Given the description of an element on the screen output the (x, y) to click on. 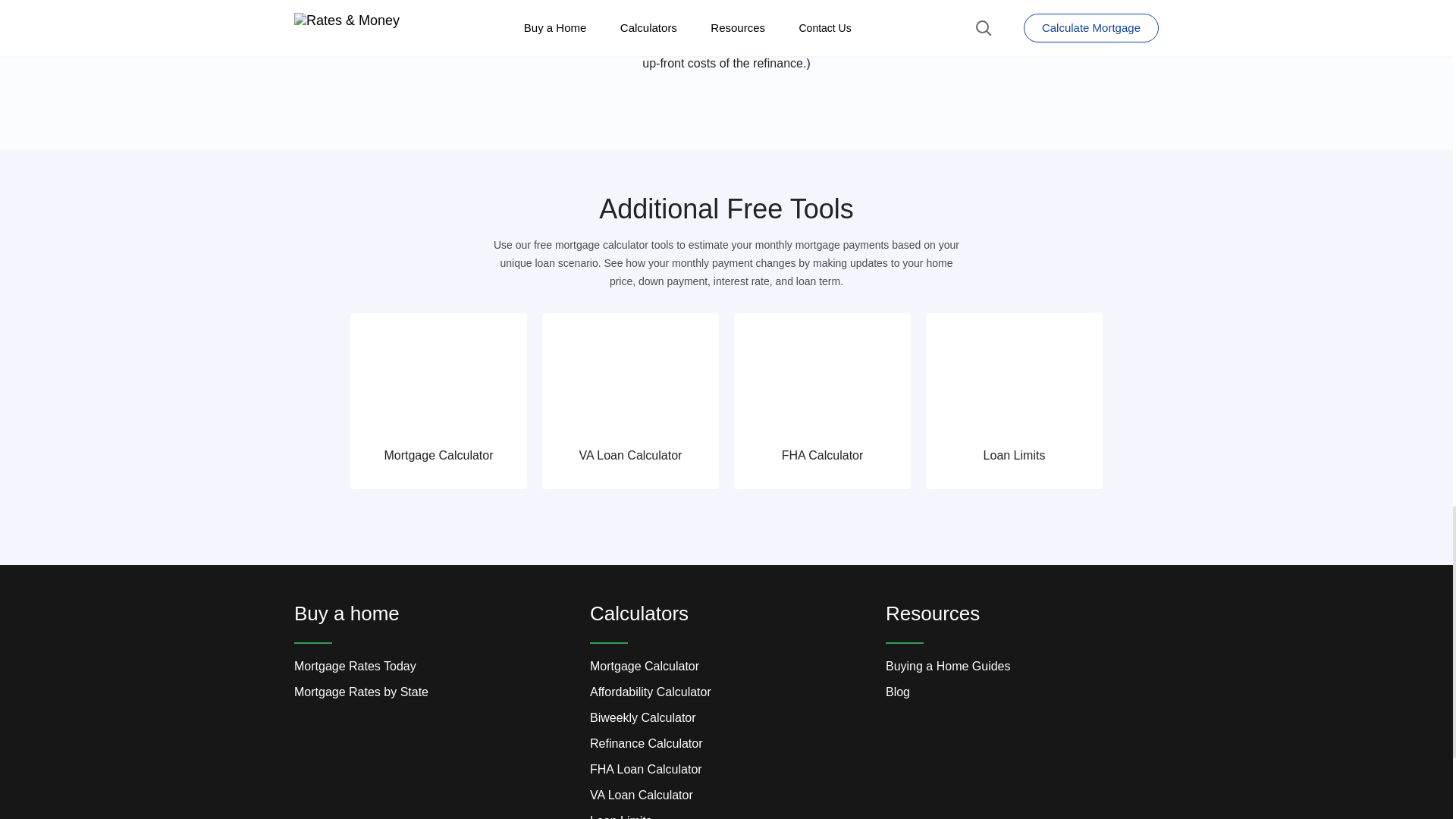
Mortgage Calculator (438, 400)
Mortgage Rates by State (361, 691)
VA Loan Calculator (630, 400)
Mortgage Rates Today (355, 666)
FHA Calculator (822, 400)
Loan Limits (1014, 400)
